Given the description of an element on the screen output the (x, y) to click on. 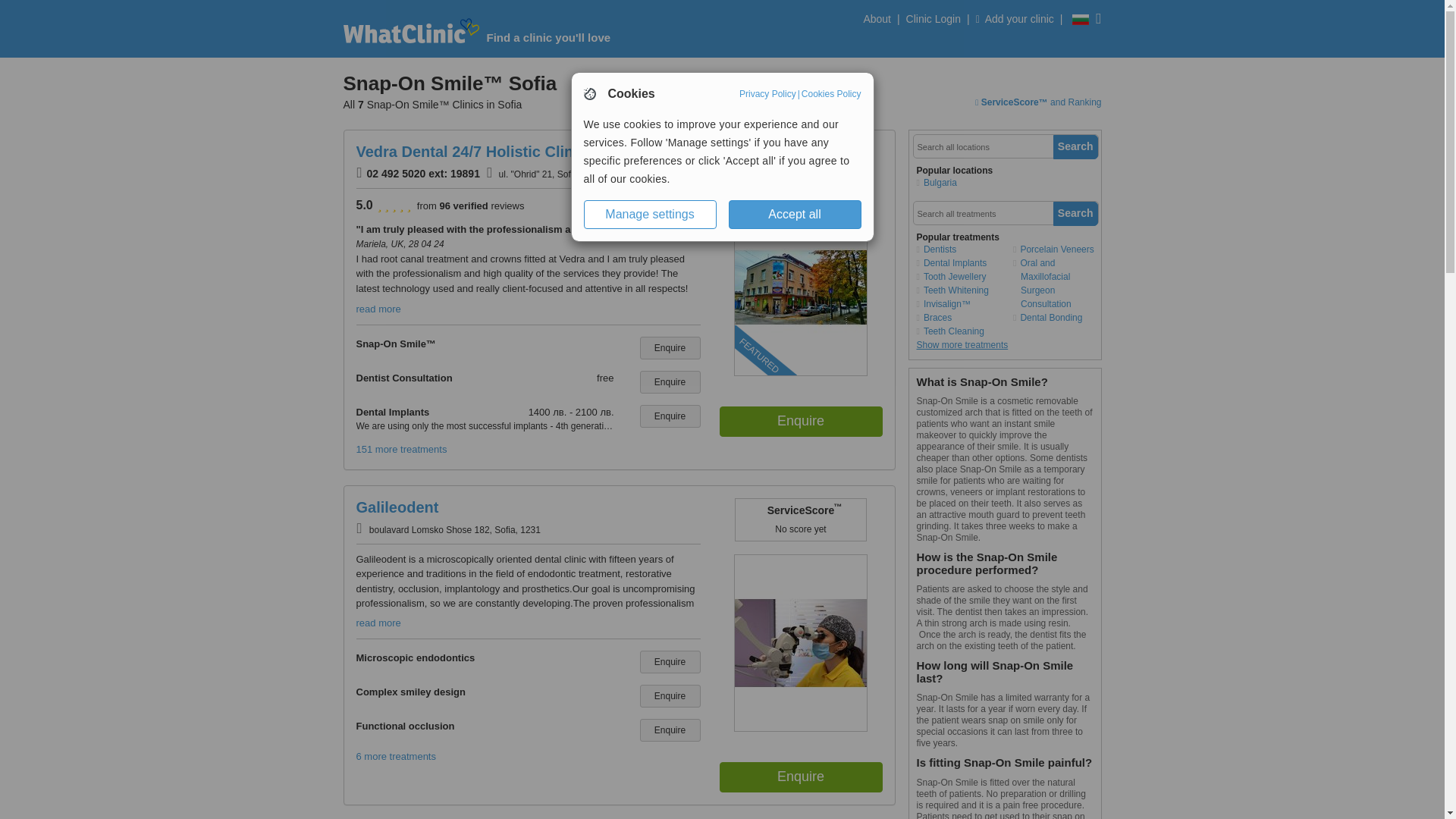
Oral and Maxillofacial Surgeon Consultation (1056, 283)
Cookies Policy (831, 93)
Dental Implants (959, 263)
Dental Bonding in Sofia (1056, 317)
Whatclinic (410, 30)
Tooth Jewellery in Sofia (959, 276)
Enquire (800, 777)
Search (1074, 146)
Search (1074, 213)
Dental Bonding (1056, 317)
Show all clinic types in Sofia (959, 249)
Clinic Login (932, 22)
Enquire (670, 415)
Add your clinic (1014, 22)
Porcelain Veneers (1056, 249)
